Given the description of an element on the screen output the (x, y) to click on. 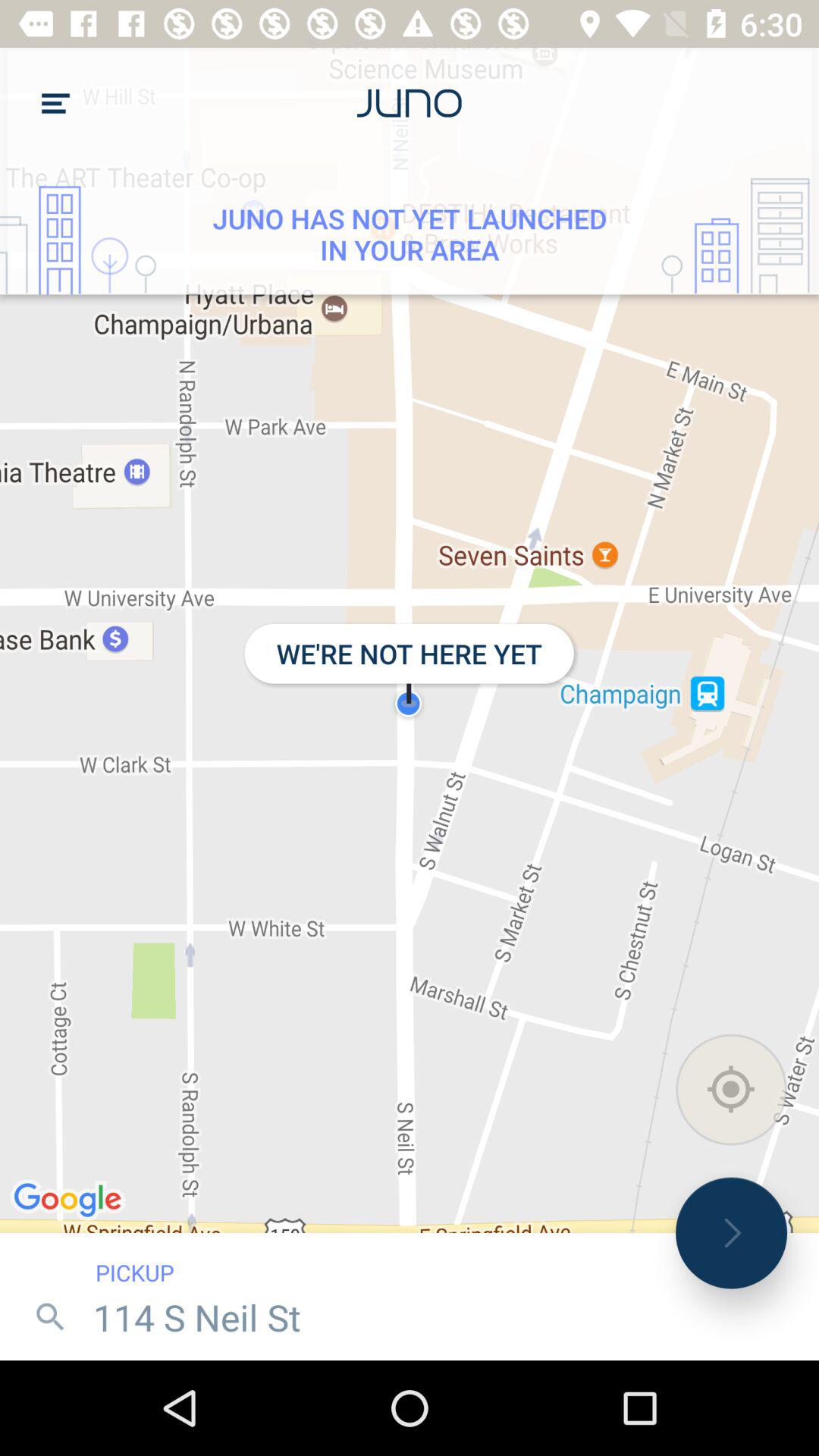
select the location icon (731, 1089)
click on the text next to menu icon (409, 102)
